Given the description of an element on the screen output the (x, y) to click on. 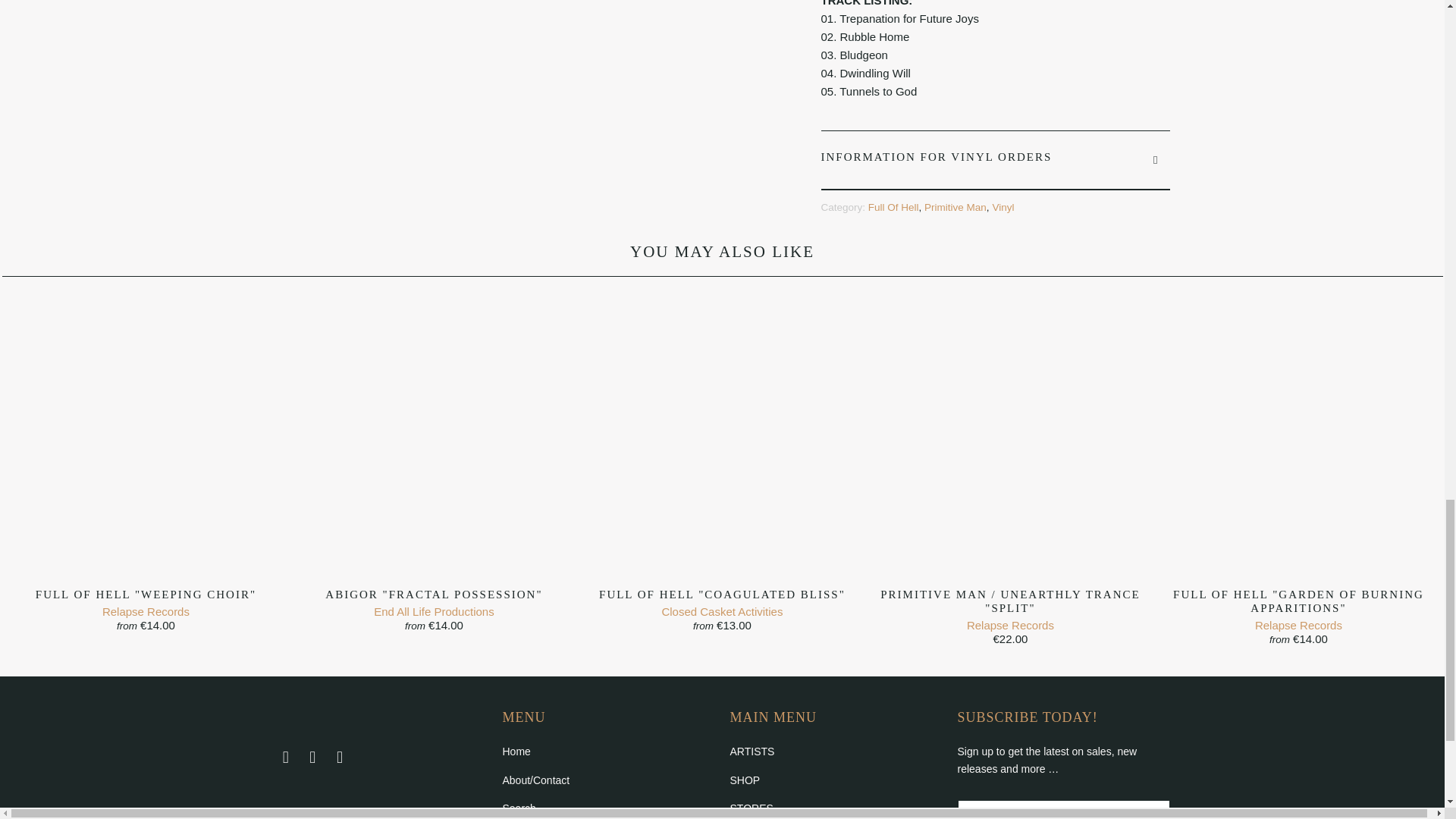
Deathwish Inc Europe on Twitter (286, 757)
Deathwish Inc Europe on Facebook (312, 757)
Products tagged Full Of Hell (892, 206)
Products tagged Primitive Man (955, 206)
Products tagged Vinyl (1002, 206)
Deathwish Inc Europe on Instagram (340, 757)
